Given the description of an element on the screen output the (x, y) to click on. 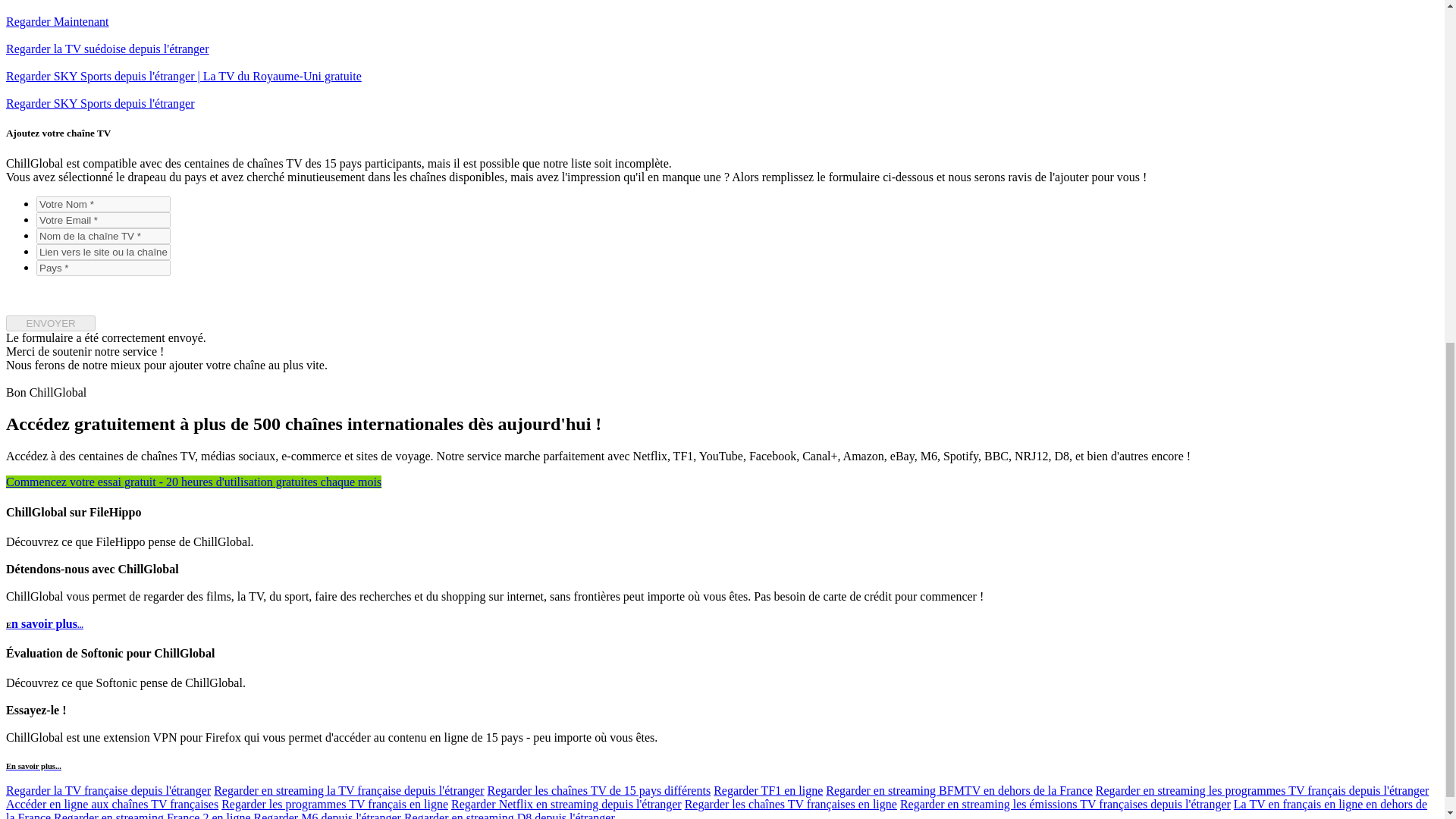
     ENVOYER      (50, 323)
Regarder Maintenant (57, 21)
